Given the description of an element on the screen output the (x, y) to click on. 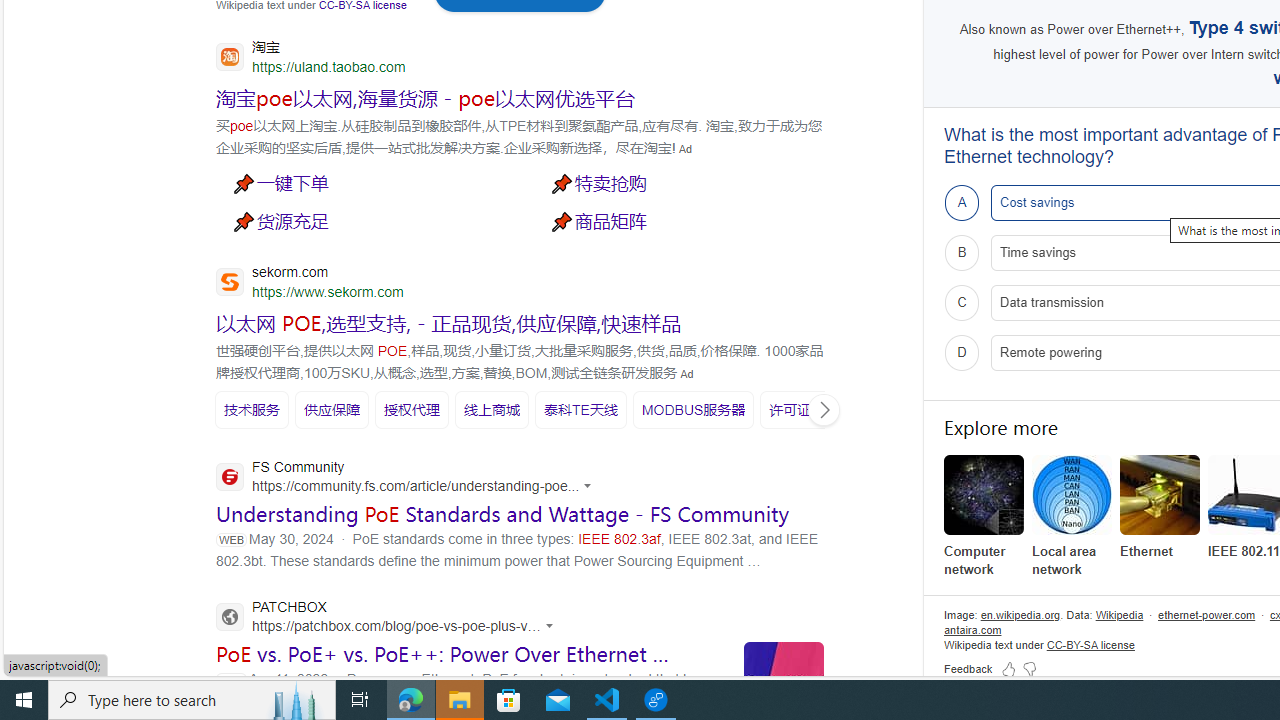
SERP,5927 (331, 409)
SERP,5929 (491, 409)
Understanding PoE Standards and Wattage - FS Community (502, 514)
Click to scroll right (823, 409)
Explore more Computer network (984, 516)
